Given the description of an element on the screen output the (x, y) to click on. 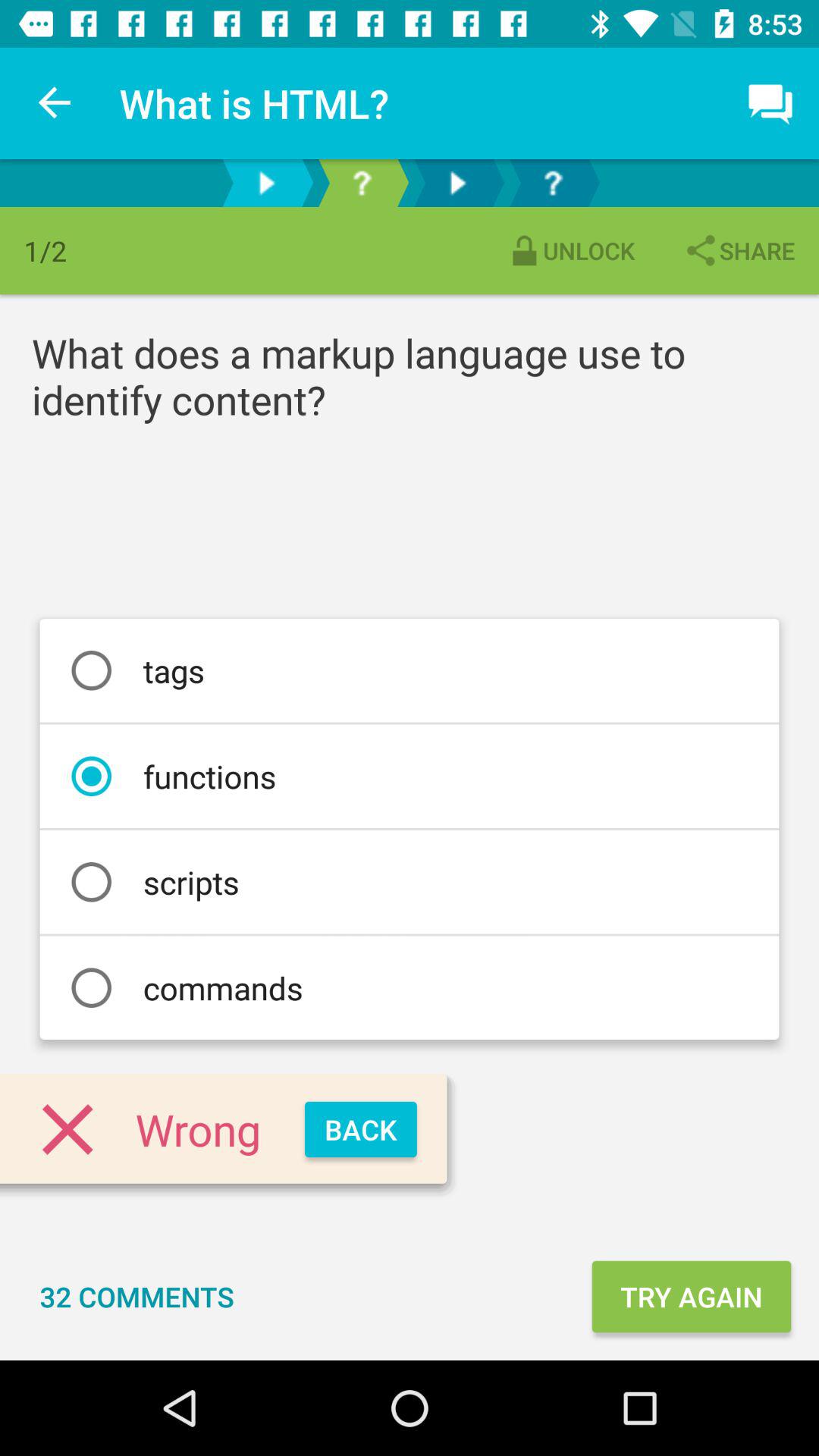
choose item below the commands icon (360, 1129)
